Given the description of an element on the screen output the (x, y) to click on. 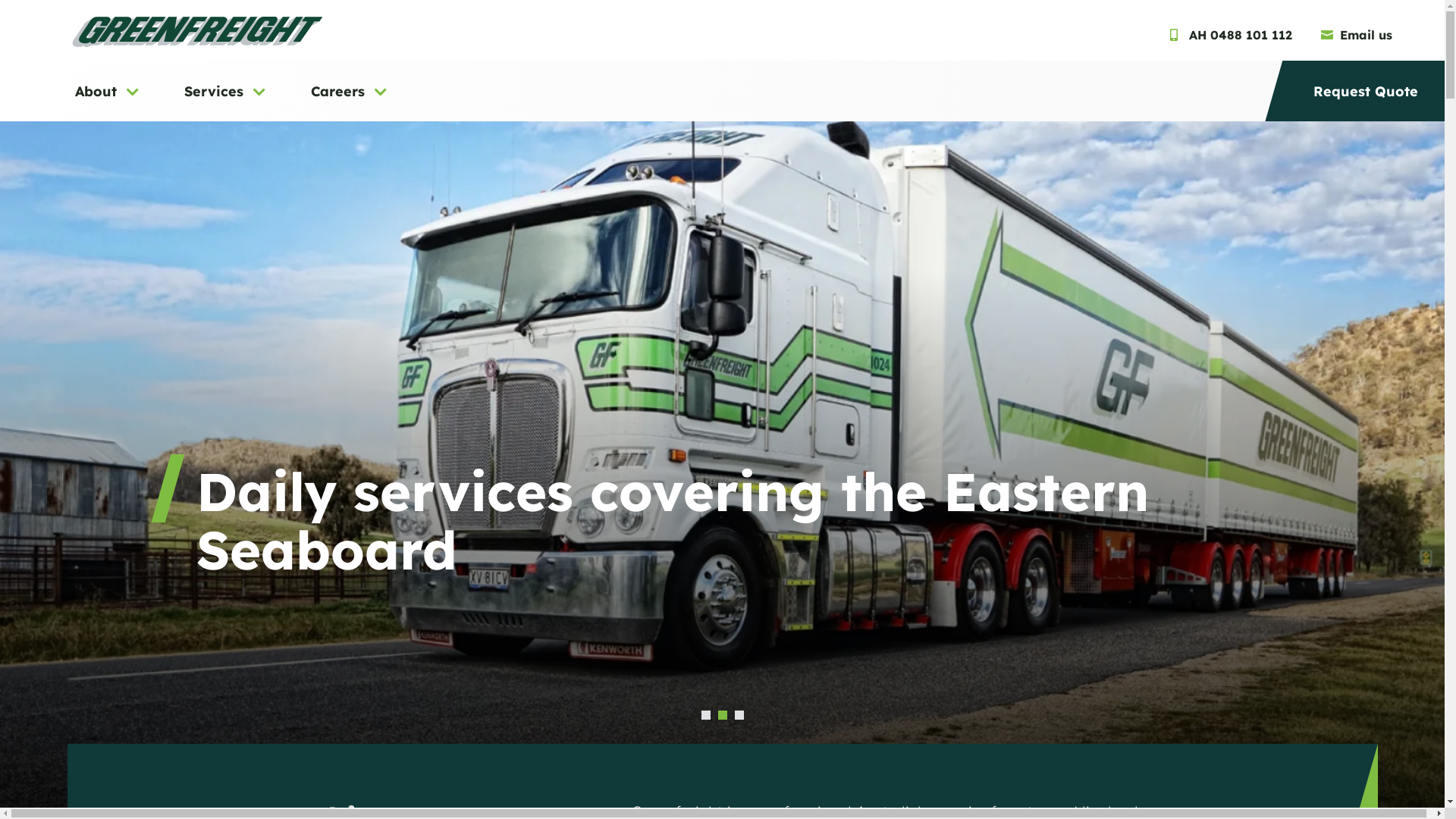
AH 0488 101 112 Element type: text (1232, 35)
Request Quote Element type: text (1365, 99)
3 Element type: text (738, 714)
About Element type: text (108, 99)
Services Element type: text (226, 99)
Email us Element type: text (1357, 35)
1 Element type: text (704, 714)
Careers Element type: text (350, 99)
greenfreight-logo Element type: hover (197, 31)
2 Element type: text (721, 714)
